Given the description of an element on the screen output the (x, y) to click on. 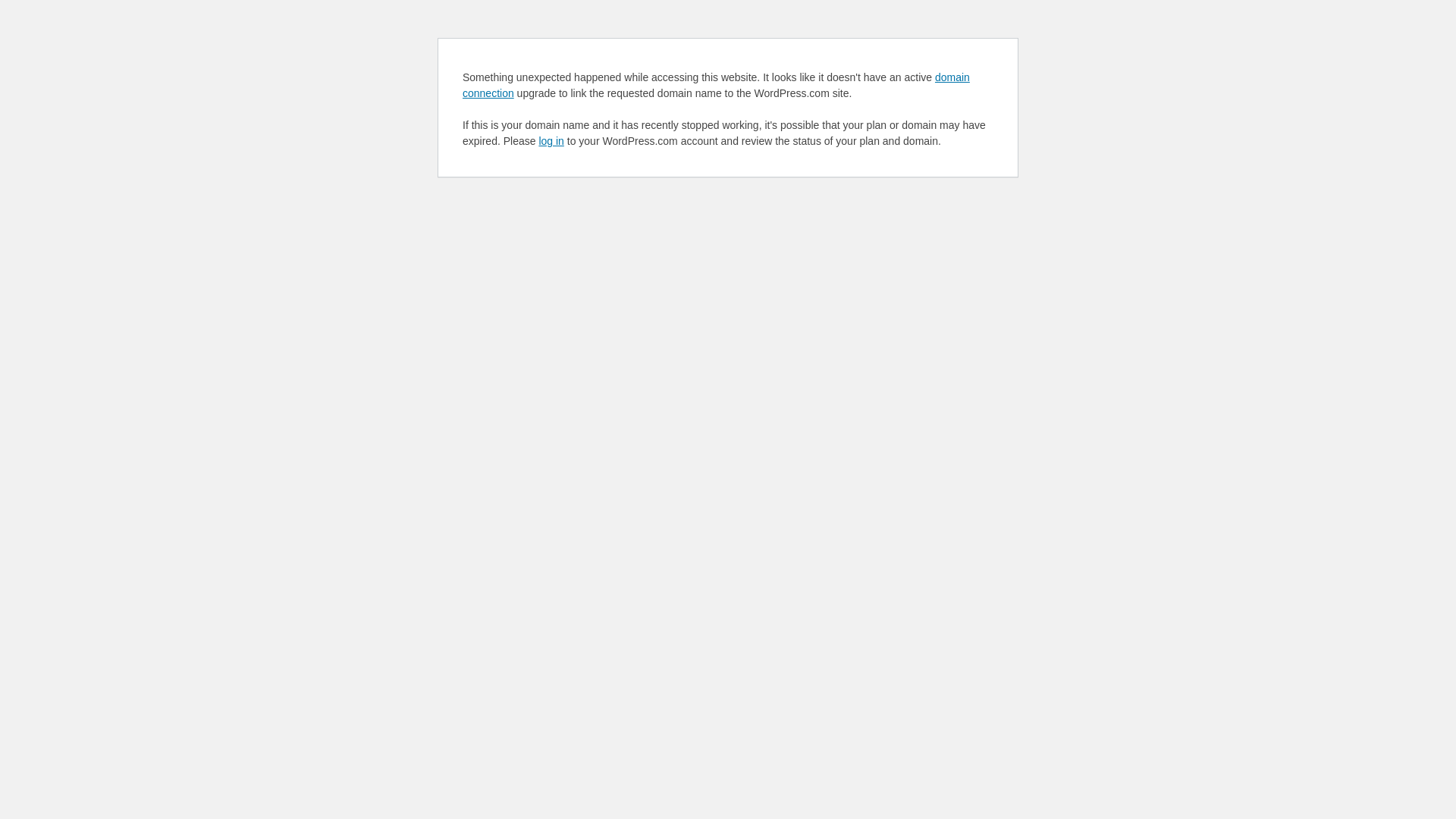
domain connection Element type: text (715, 85)
log in Element type: text (550, 140)
